Given the description of an element on the screen output the (x, y) to click on. 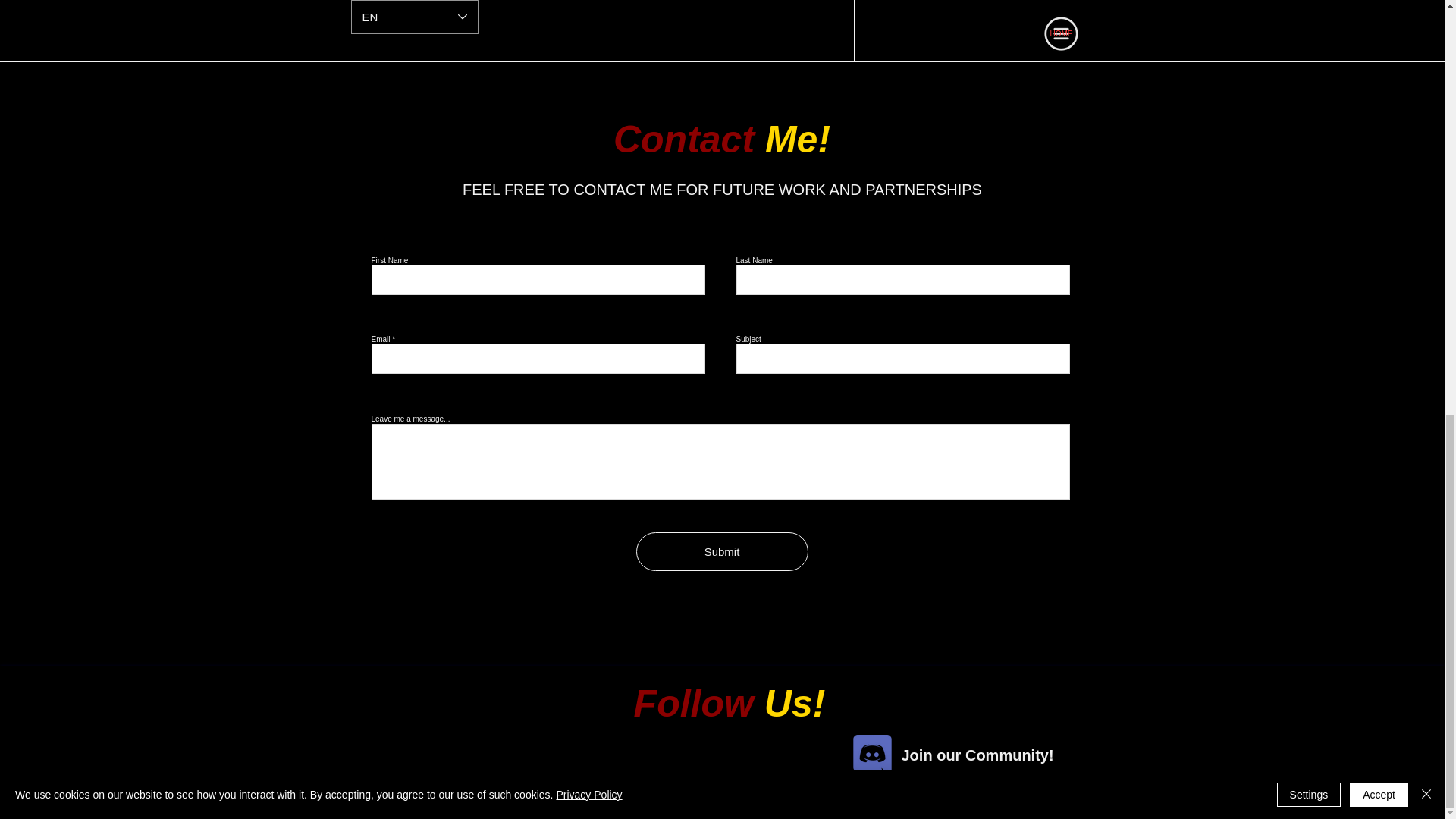
BACK TO TOP (1048, 799)
Submit (721, 551)
Twitter Follow (718, 768)
